Given the description of an element on the screen output the (x, y) to click on. 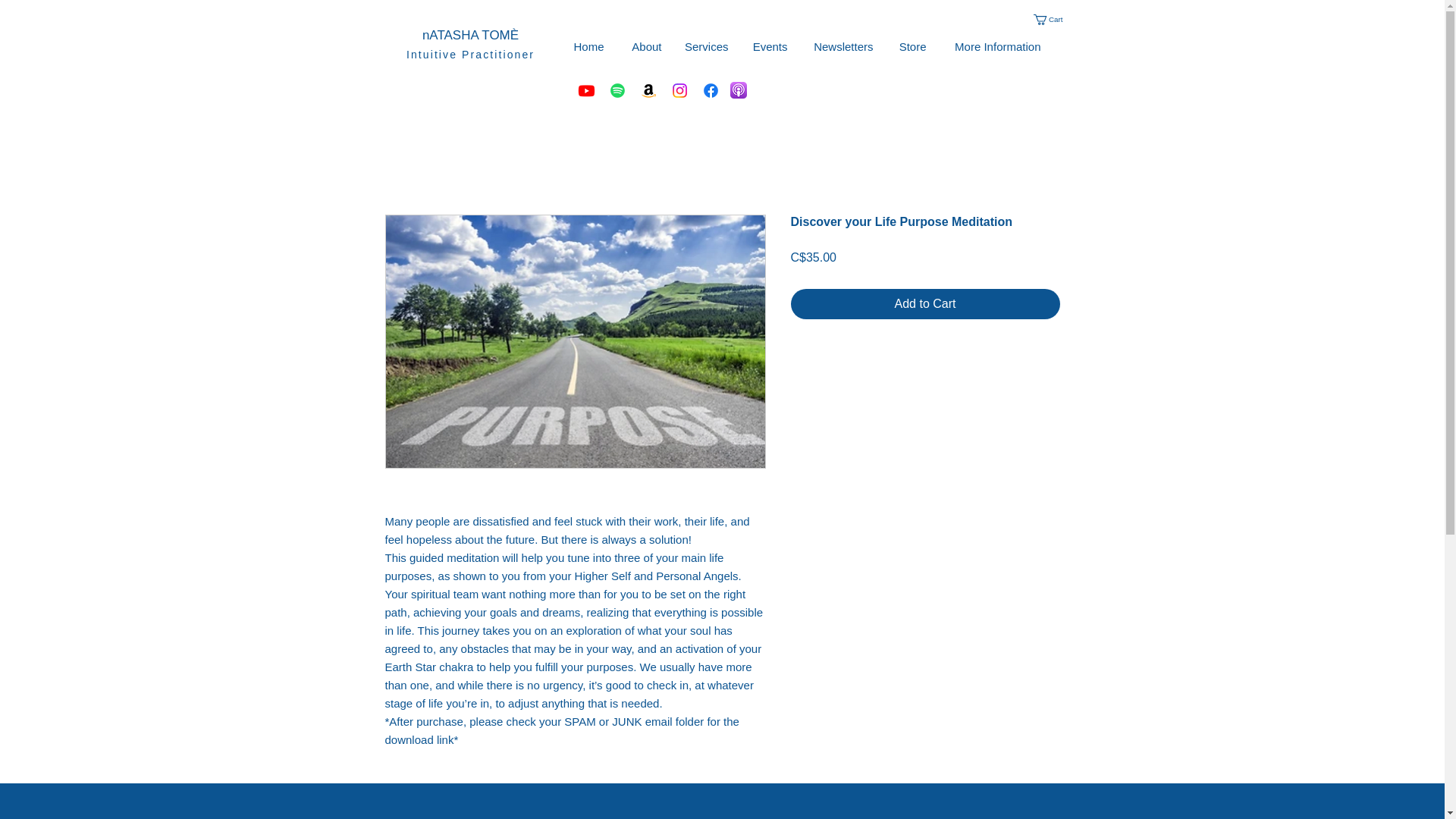
Events (769, 46)
Store (910, 46)
Home (586, 46)
Add to Cart (924, 304)
Newsletters (842, 46)
Intuitive Practitioner (470, 54)
Cart (1052, 19)
About (643, 46)
Cart (1052, 19)
Services (705, 46)
